Given the description of an element on the screen output the (x, y) to click on. 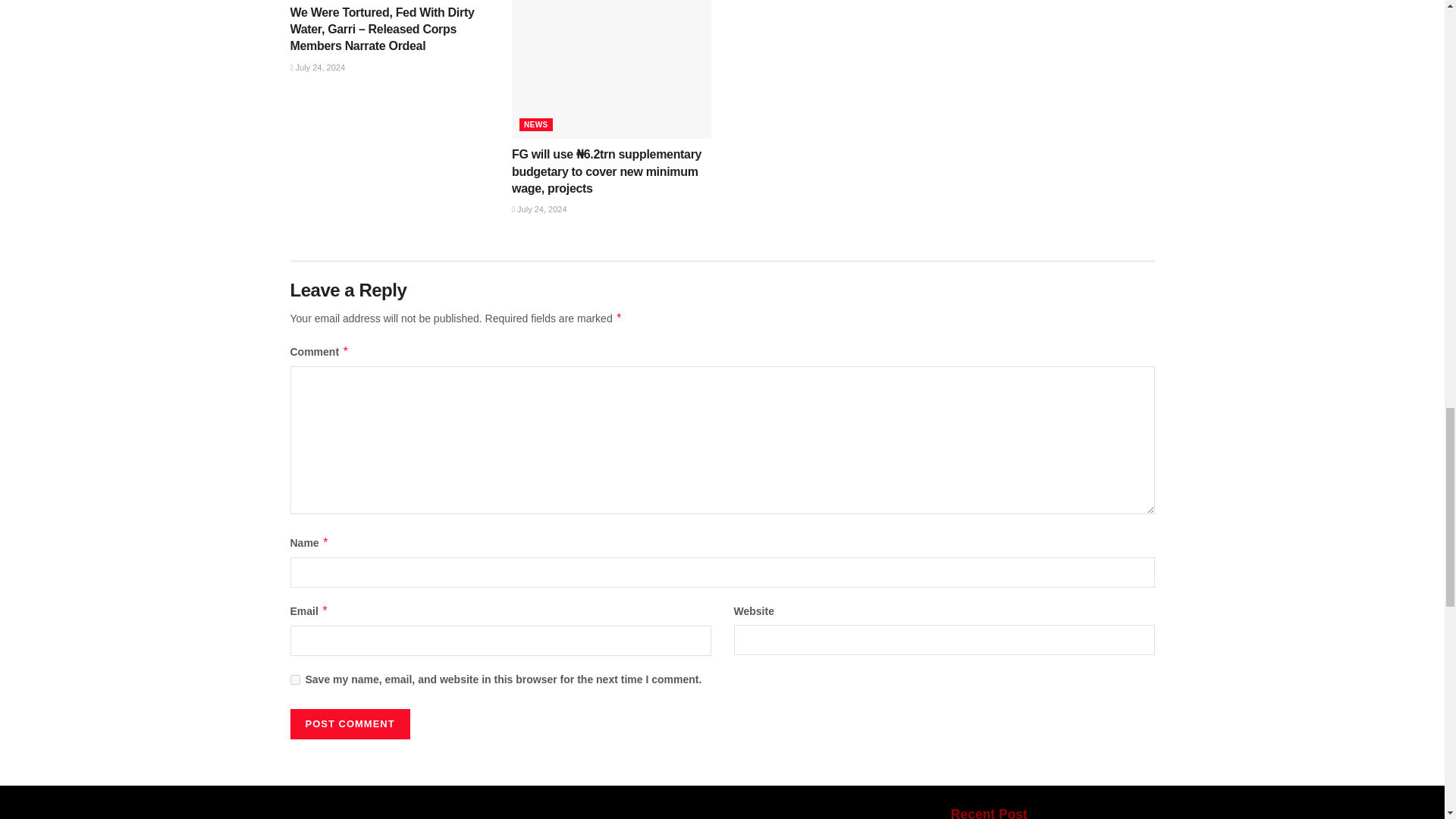
yes (294, 679)
Post Comment (349, 724)
